Given the description of an element on the screen output the (x, y) to click on. 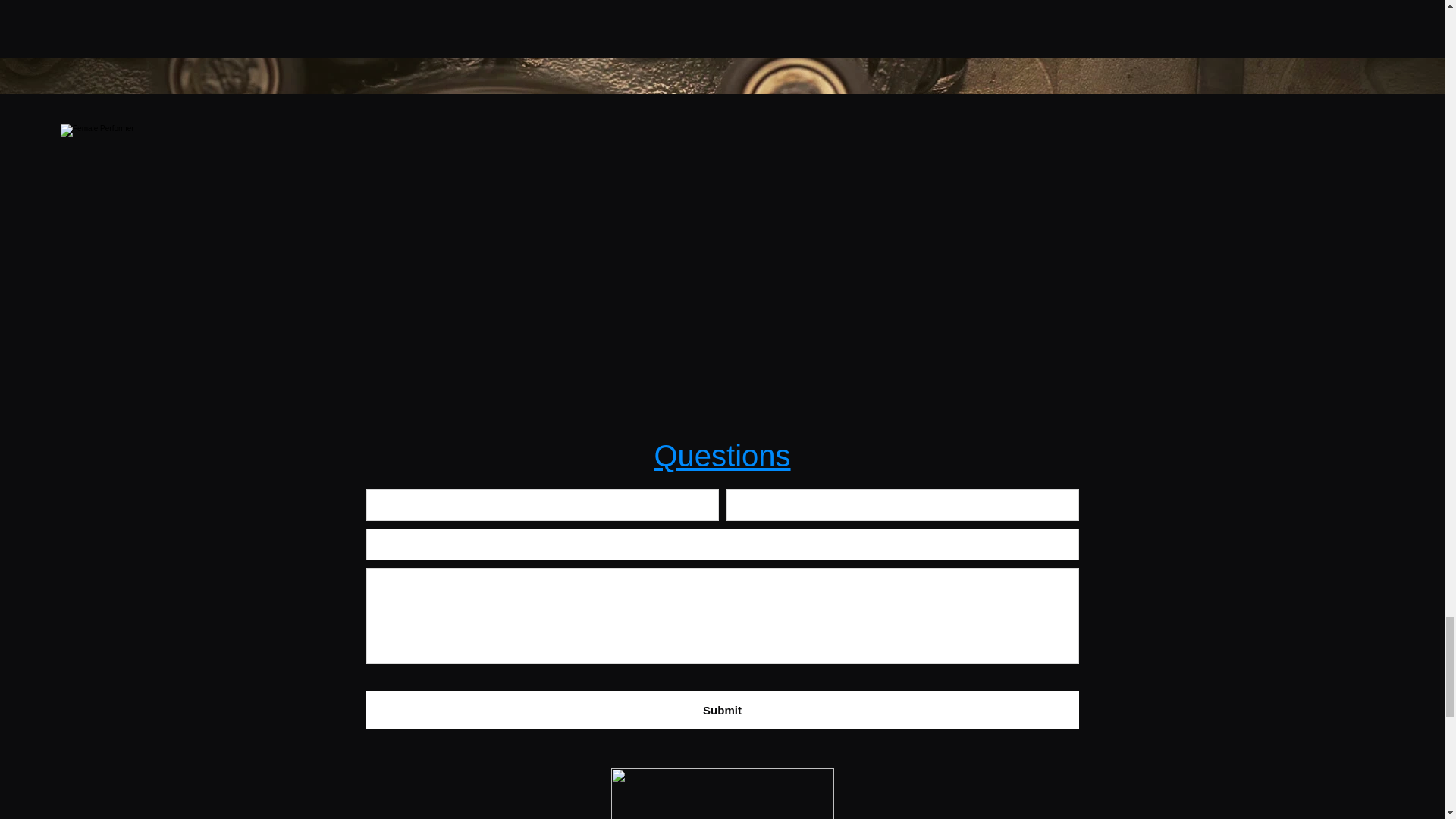
Submit (721, 709)
